Given the description of an element on the screen output the (x, y) to click on. 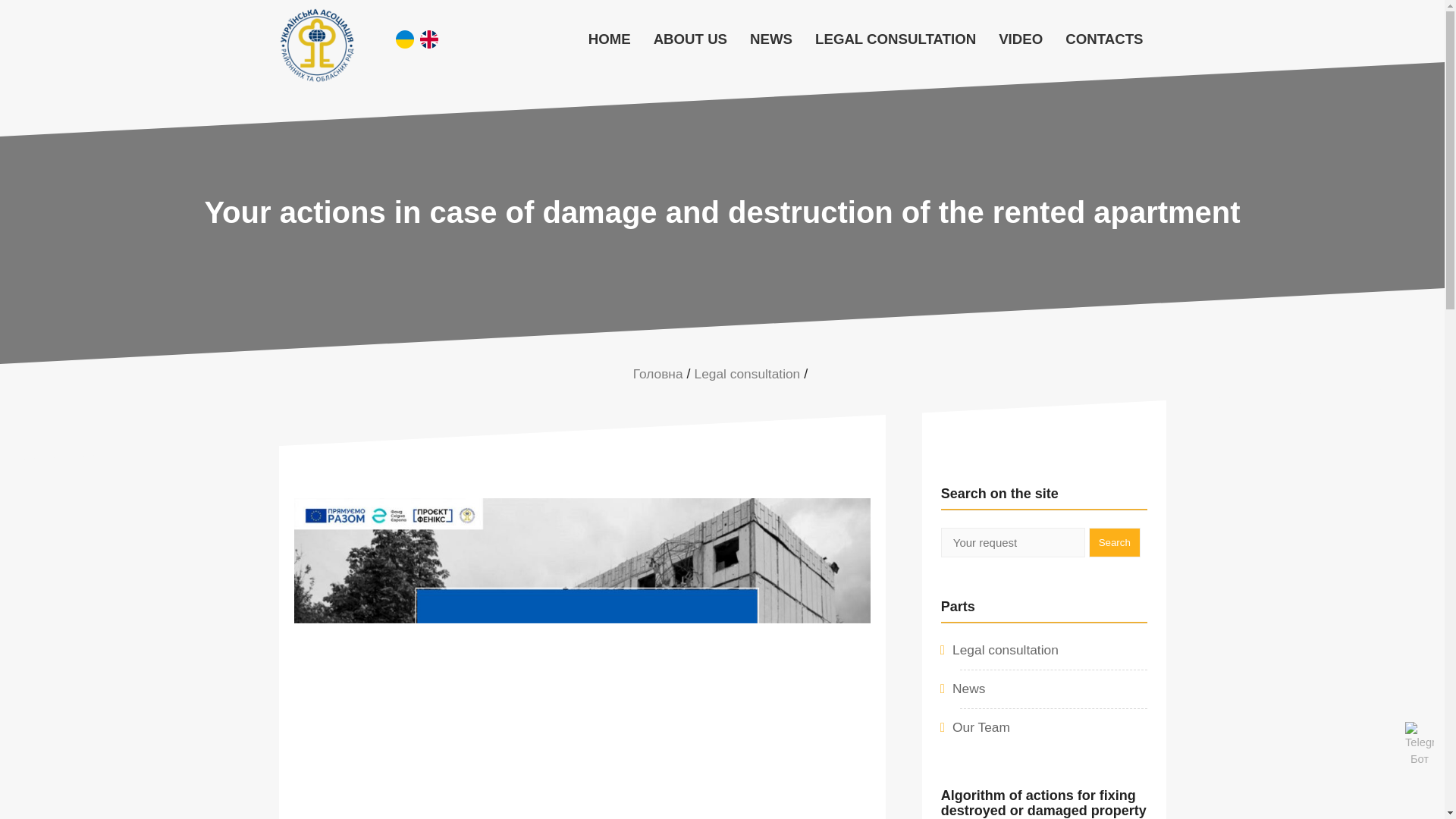
CONTACTS (1103, 39)
LEGAL CONSULTATION (895, 39)
ABOUT US (689, 39)
HOME (609, 39)
News (968, 688)
VIDEO (1020, 39)
Legal consultation (747, 373)
Search (1114, 542)
Our Team (981, 726)
Search (1114, 542)
NEWS (770, 39)
Legal consultation (1005, 649)
